Given the description of an element on the screen output the (x, y) to click on. 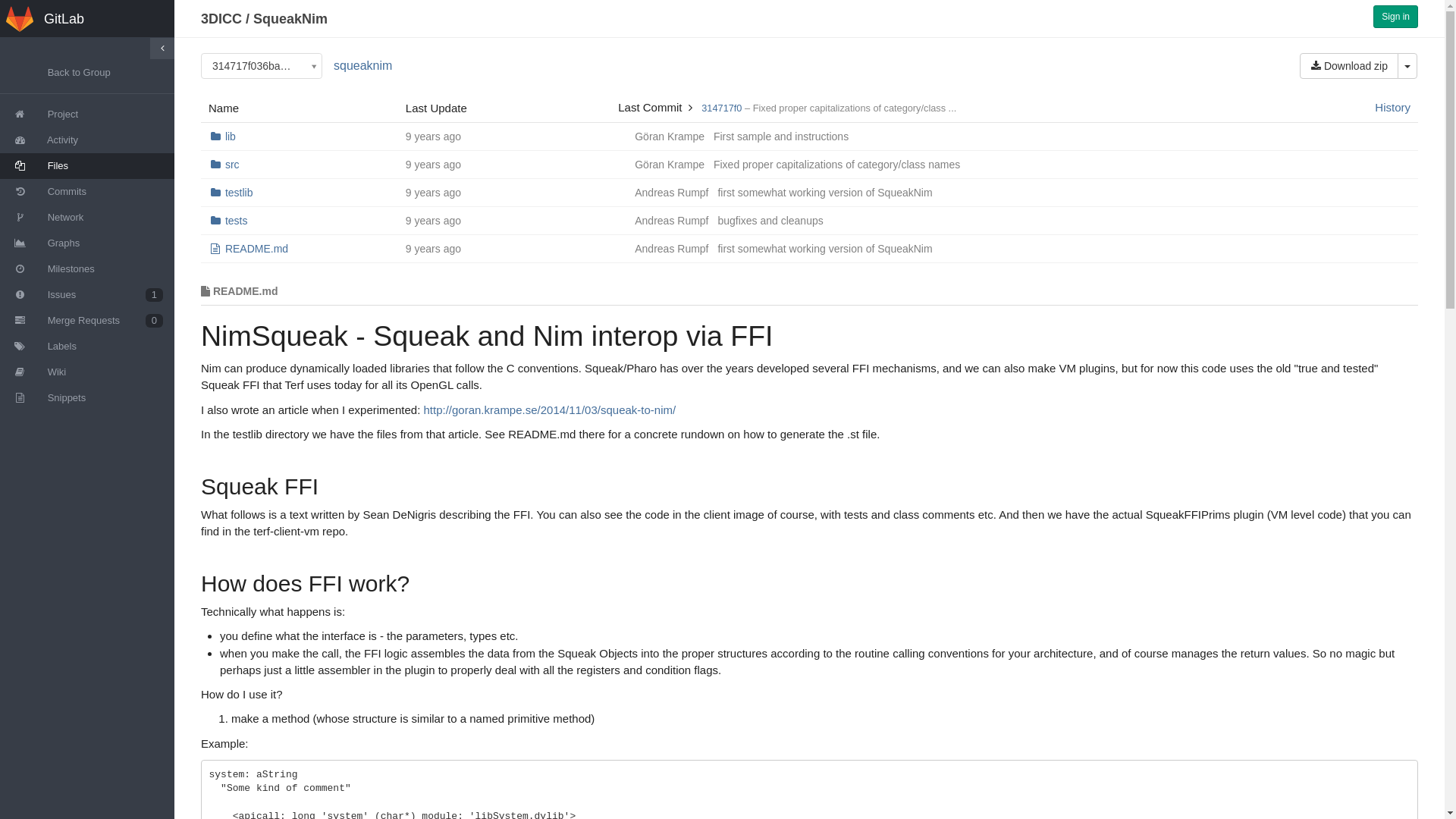
bugfixes and cleanups Element type: text (769, 220)
Merge Requests
0 Element type: text (87, 320)
Project Element type: text (87, 114)
First sample and instructions Element type: text (780, 136)
testlib Element type: text (239, 192)
first somewhat working version of SqueakNim Element type: text (824, 192)
tests Element type: text (236, 220)
History Element type: text (1392, 107)
lib Element type: text (230, 136)
Wiki Element type: text (87, 372)
Select Archive Format Element type: text (1407, 65)
first somewhat working version of SqueakNim Element type: text (824, 248)
Open/Close Element type: hover (162, 48)
Snippets Element type: text (87, 398)
Issues
1 Element type: text (87, 294)
Milestones Element type: text (87, 269)
Network Element type: text (87, 217)
314717f0 Element type: text (721, 107)
src Element type: text (232, 164)
Sign in Element type: text (1395, 16)
Download zip Element type: text (1348, 65)
Back to Group Element type: text (87, 72)
README.md Element type: text (256, 248)
SqueakNim Element type: text (290, 18)
Andreas Rumpf Element type: text (671, 248)
README.md Element type: text (809, 291)
Labels Element type: text (87, 346)
Andreas Rumpf Element type: text (671, 192)
Commits Element type: text (87, 191)
http://goran.krampe.se/2014/11/03/squeak-to-nim/ Element type: text (549, 409)
314717f036bab4ad7bb32ecbd5fe5050fa99c996 Element type: text (261, 65)
squeaknim Element type: text (362, 65)
GitLab Element type: text (87, 18)
Fixed proper capitalizations of category/class names Element type: text (836, 164)
3DICC Element type: text (220, 18)
Files Element type: text (87, 165)
Activity Element type: text (87, 140)
Graphs Element type: text (87, 243)
Andreas Rumpf Element type: text (671, 220)
